Given the description of an element on the screen output the (x, y) to click on. 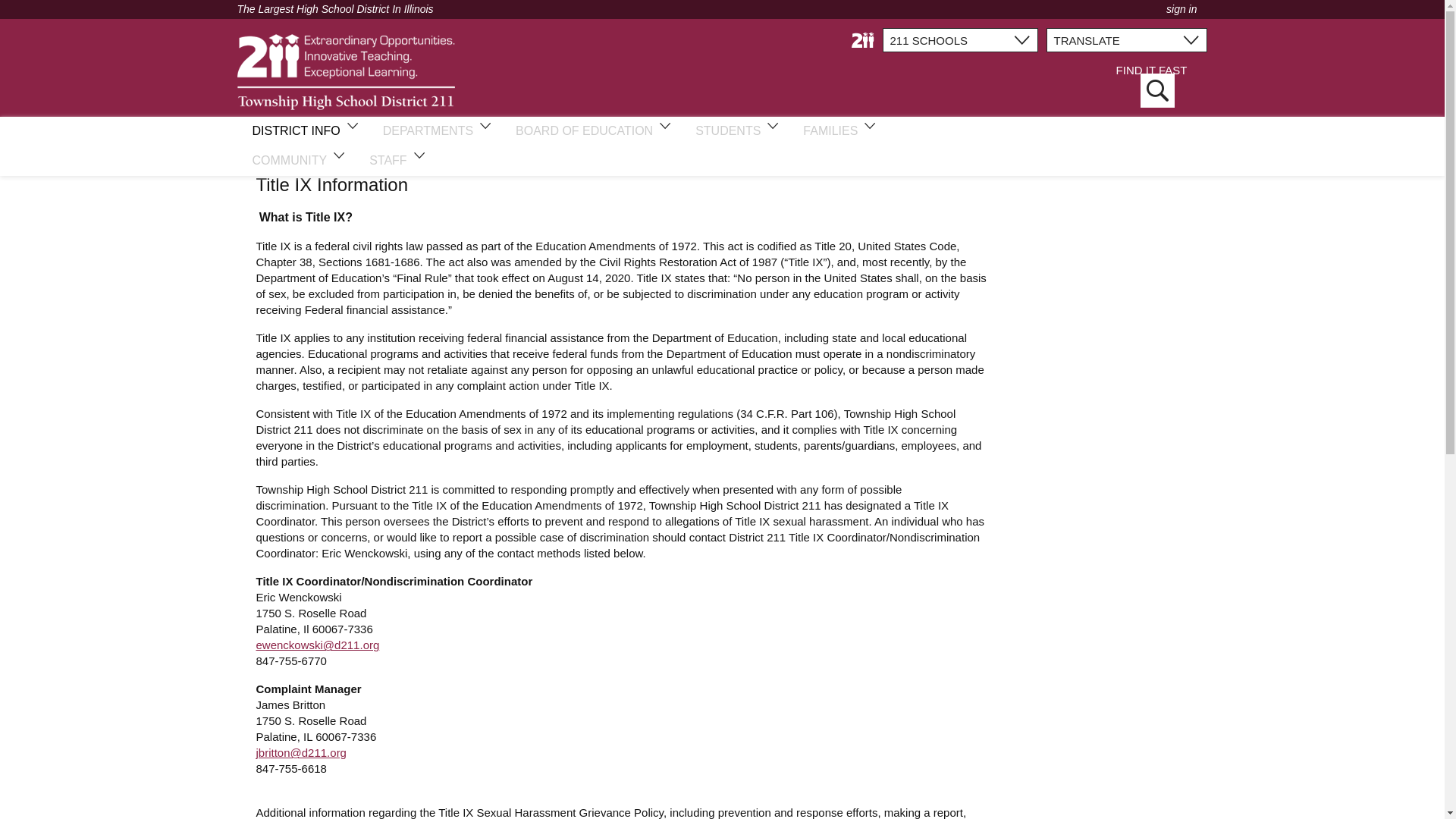
FIND IT FAST (1150, 86)
sign in (1181, 9)
TRANSLATE (1126, 39)
Township High School District 211 (344, 71)
211 SCHOOLS (960, 39)
